Given the description of an element on the screen output the (x, y) to click on. 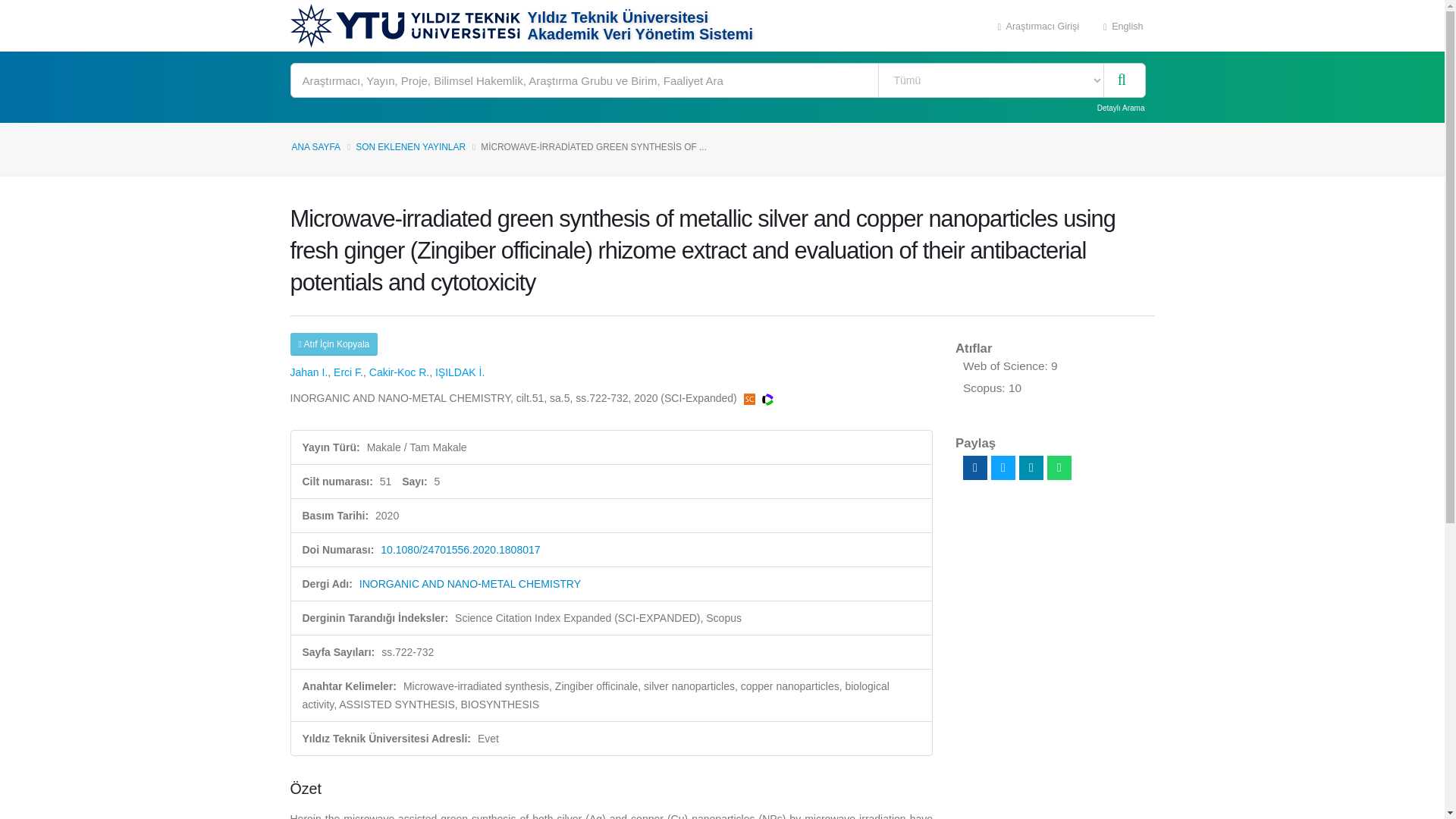
English (1123, 26)
Erci F. (347, 372)
Cakir-Koc R. (399, 372)
Israt Jahan (308, 372)
Jahan I. (308, 372)
INORGANIC AND NANO-METAL CHEMISTRY (469, 583)
Fatih Erci (347, 372)
ANA SAYFA (315, 146)
SON EKLENEN YAYINLAR (410, 146)
